Given the description of an element on the screen output the (x, y) to click on. 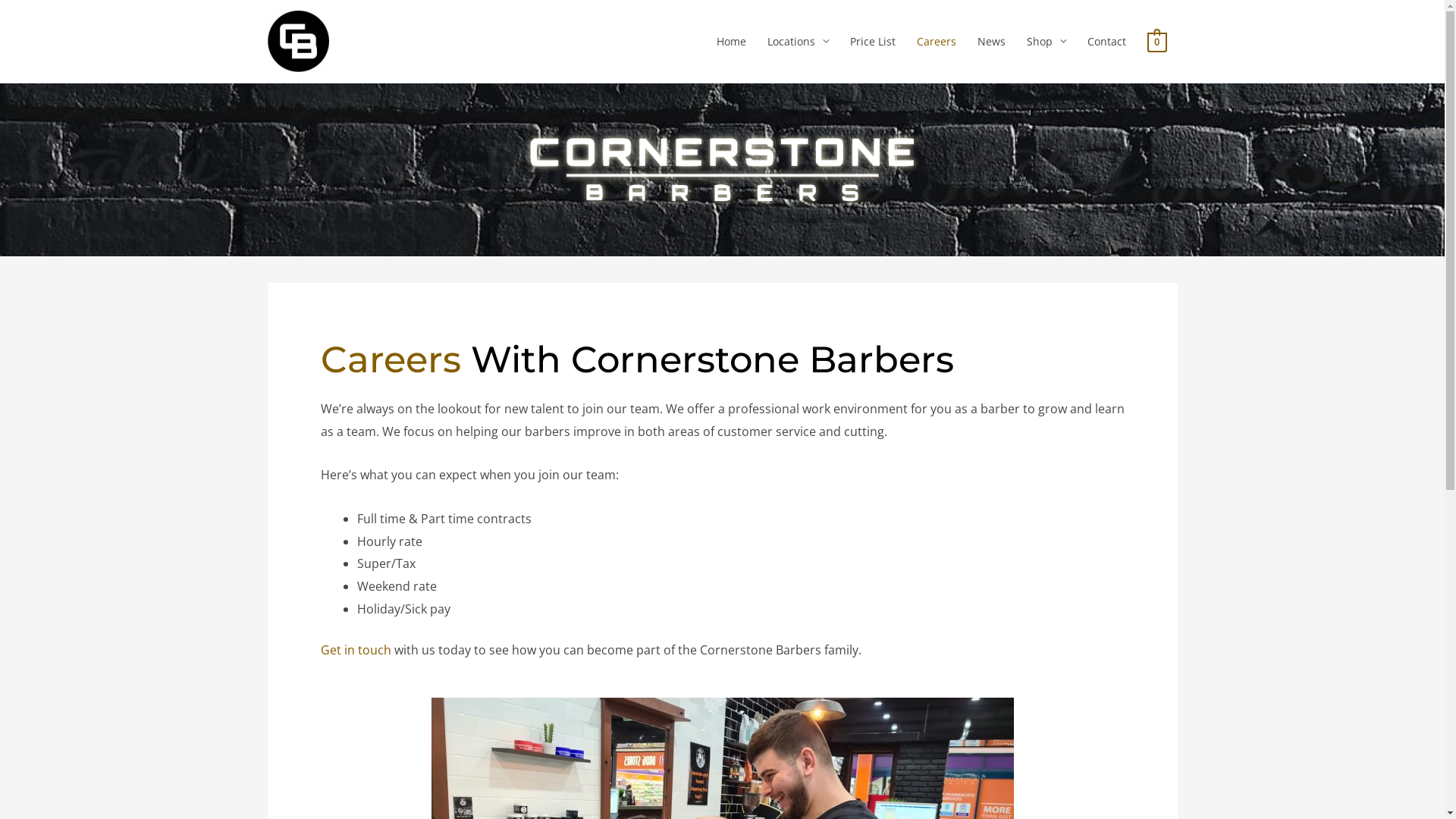
Get in touch Element type: text (355, 649)
Price List Element type: text (872, 40)
Contact Element type: text (1106, 40)
News Element type: text (991, 40)
Home Element type: text (731, 40)
Locations Element type: text (797, 40)
Careers Element type: text (936, 40)
Shop Element type: text (1046, 40)
0 Element type: text (1156, 40)
